Given the description of an element on the screen output the (x, y) to click on. 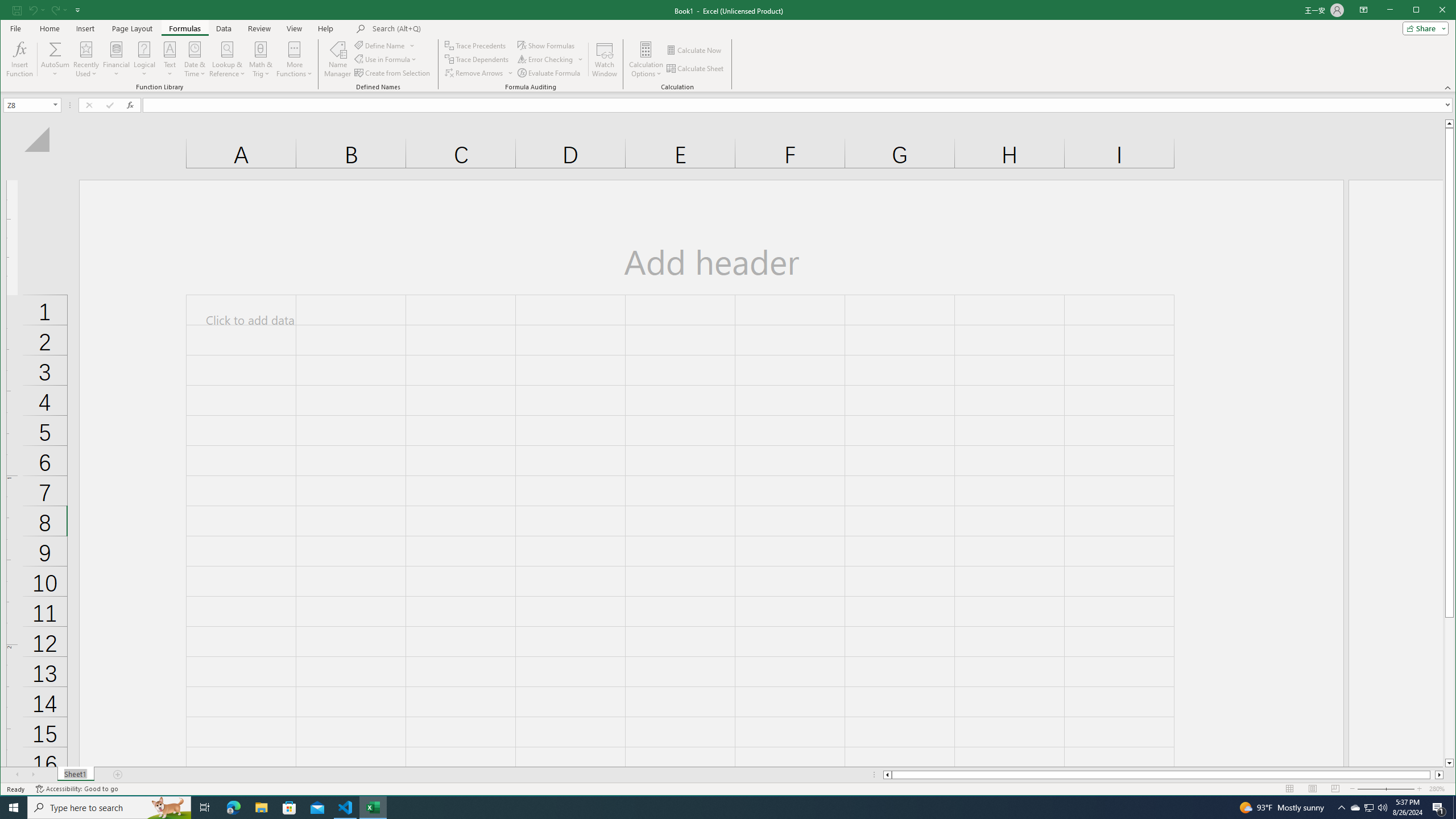
Trace Precedents (475, 45)
Math & Trig (260, 59)
Lookup & Reference (227, 59)
Use in Formula (386, 59)
Action Center, 1 new notification (1439, 807)
Name Manager (337, 59)
User Promoted Notification Area (1368, 807)
Sheet Tab (75, 774)
Visual Studio Code - 1 running window (345, 807)
